Given the description of an element on the screen output the (x, y) to click on. 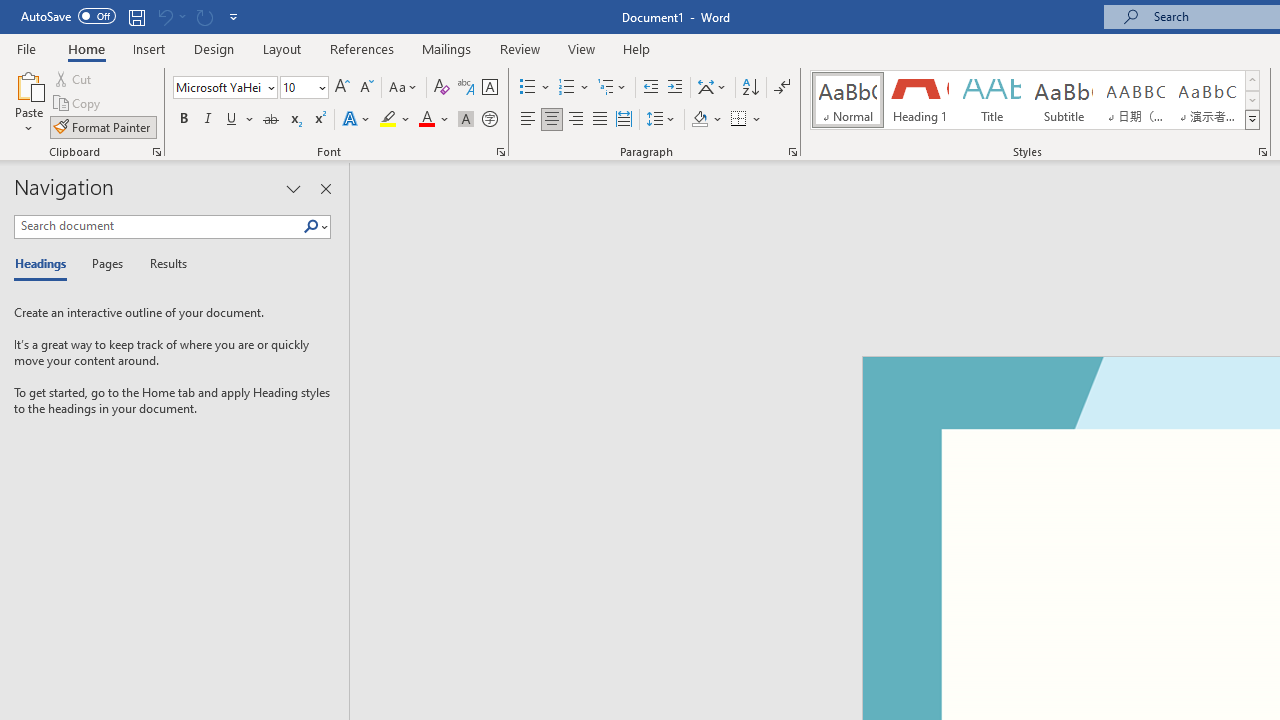
Character Shading (465, 119)
Grow Font (342, 87)
Mailings (447, 48)
Bullets (535, 87)
Shading RGB(0, 0, 0) (699, 119)
Search (315, 227)
Paragraph... (792, 151)
View (582, 48)
Quick Access Toolbar (131, 16)
Underline (232, 119)
Shading (706, 119)
Styles (1252, 120)
Decrease Indent (650, 87)
Clear Formatting (442, 87)
